Given the description of an element on the screen output the (x, y) to click on. 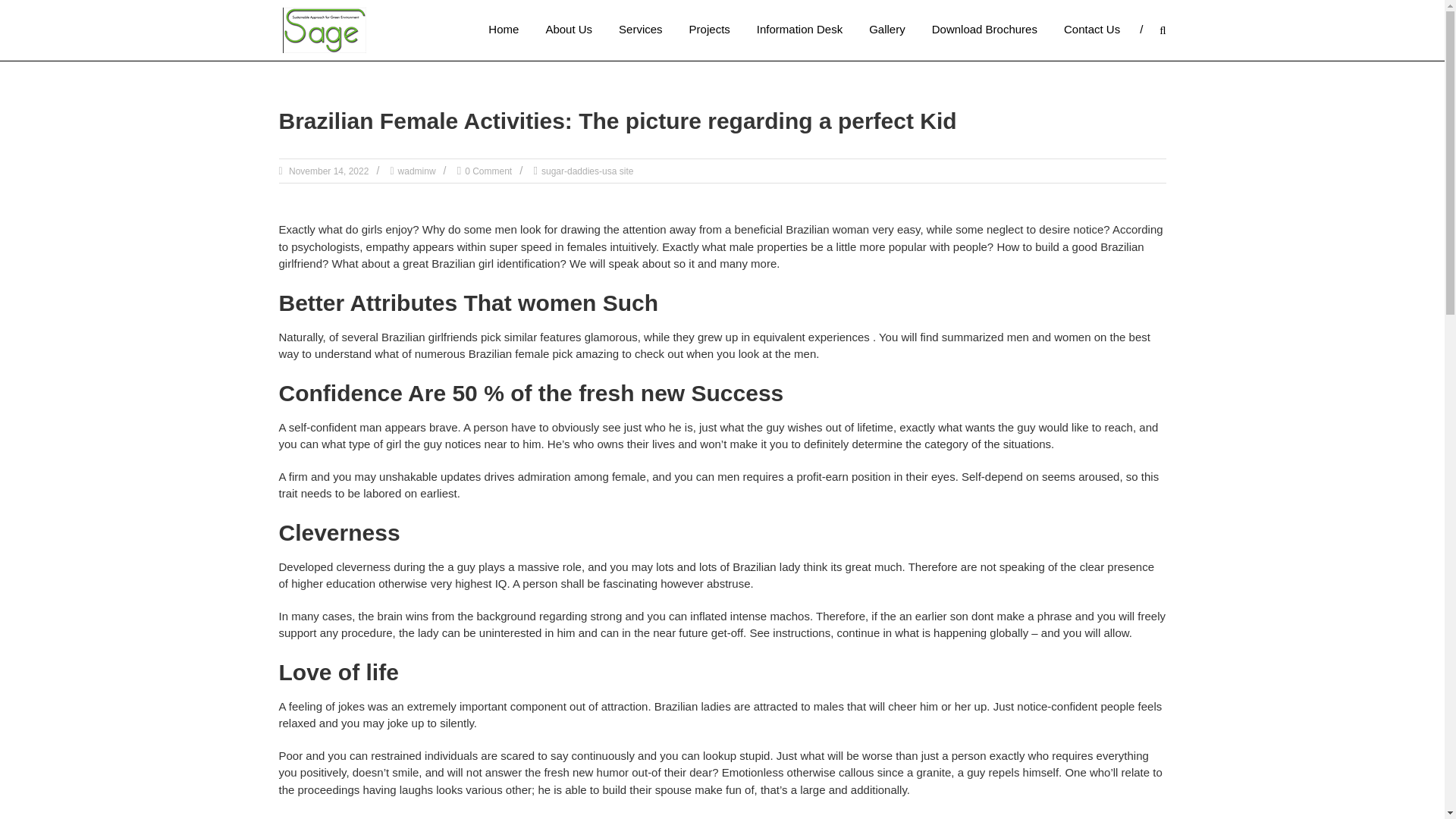
Services (640, 29)
3:40 pm (327, 171)
November 14, 2022 (327, 171)
sugar-daddies-usa site (587, 171)
wadminw (416, 171)
Contact Us (1091, 29)
0 Comment (488, 171)
wadminw (416, 171)
Search (1232, 409)
Download Brochures (983, 29)
Information Desk (800, 29)
About Us (568, 29)
Projects (709, 29)
